Given the description of an element on the screen output the (x, y) to click on. 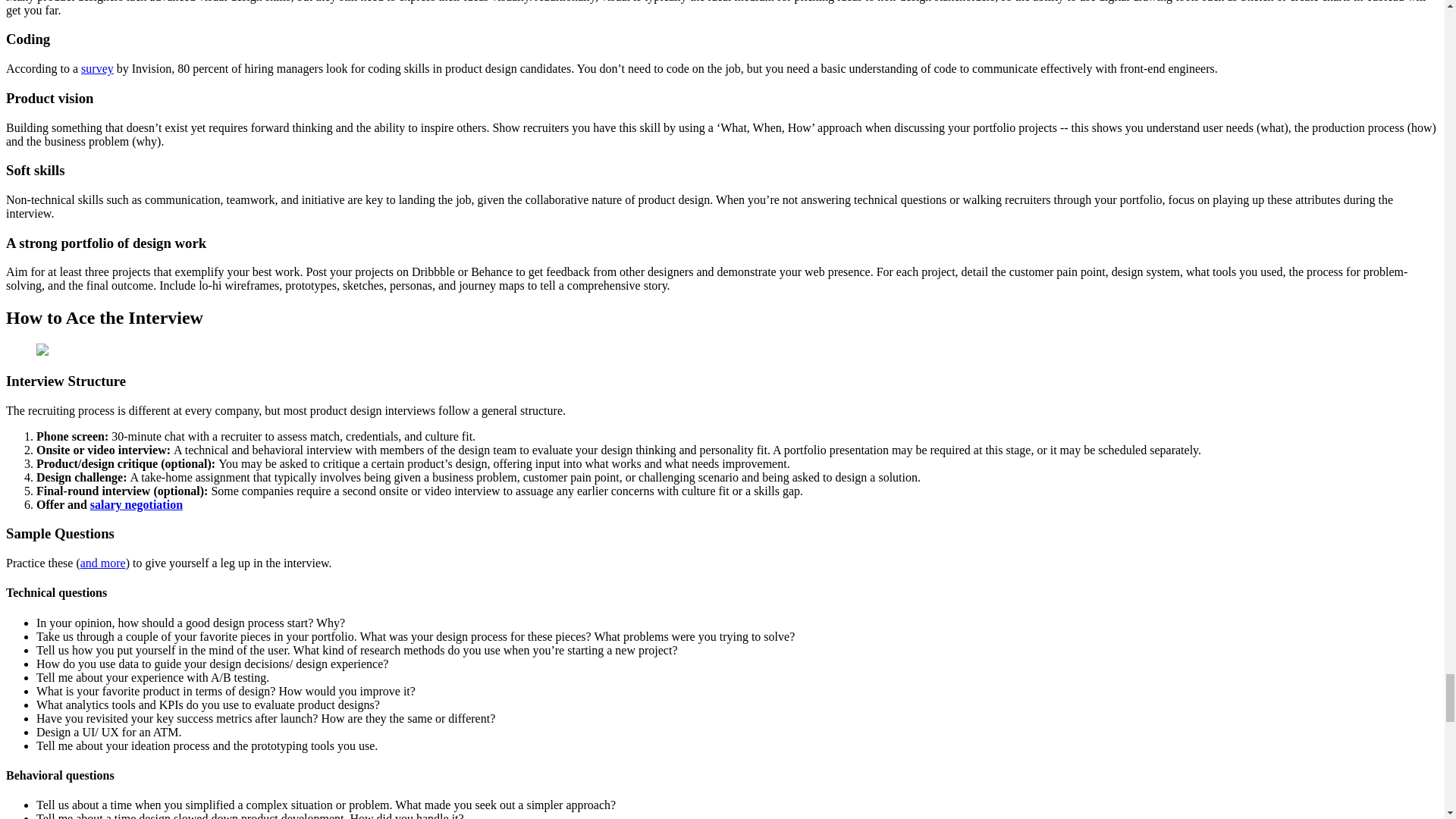
survey (97, 68)
and more (102, 562)
salary negotiation (136, 504)
